Given the description of an element on the screen output the (x, y) to click on. 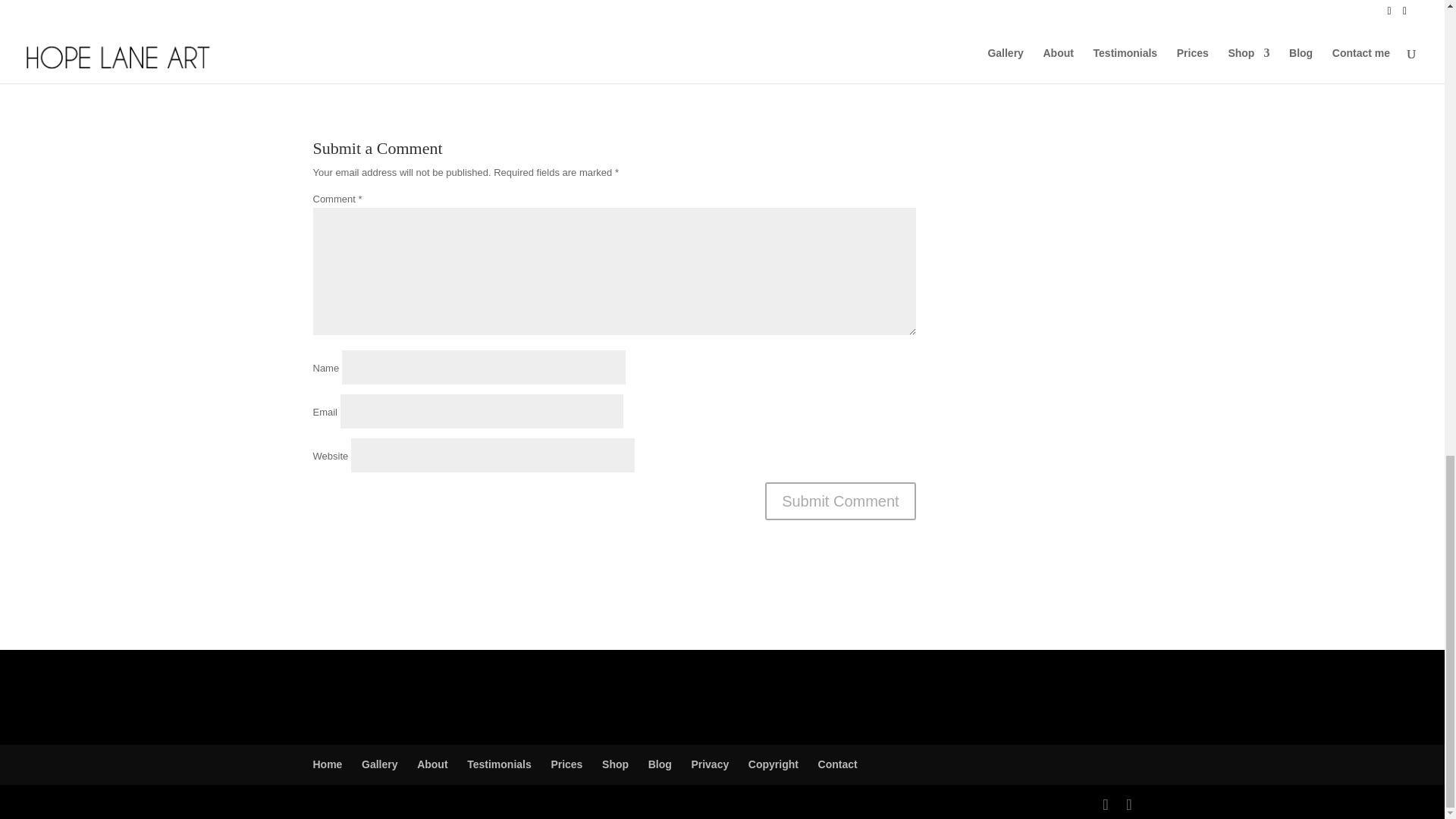
Submit Comment (840, 501)
Submit Comment (840, 501)
About (431, 764)
Testimonials (499, 764)
Gallery (379, 764)
Home (327, 764)
Share (331, 50)
